Given the description of an element on the screen output the (x, y) to click on. 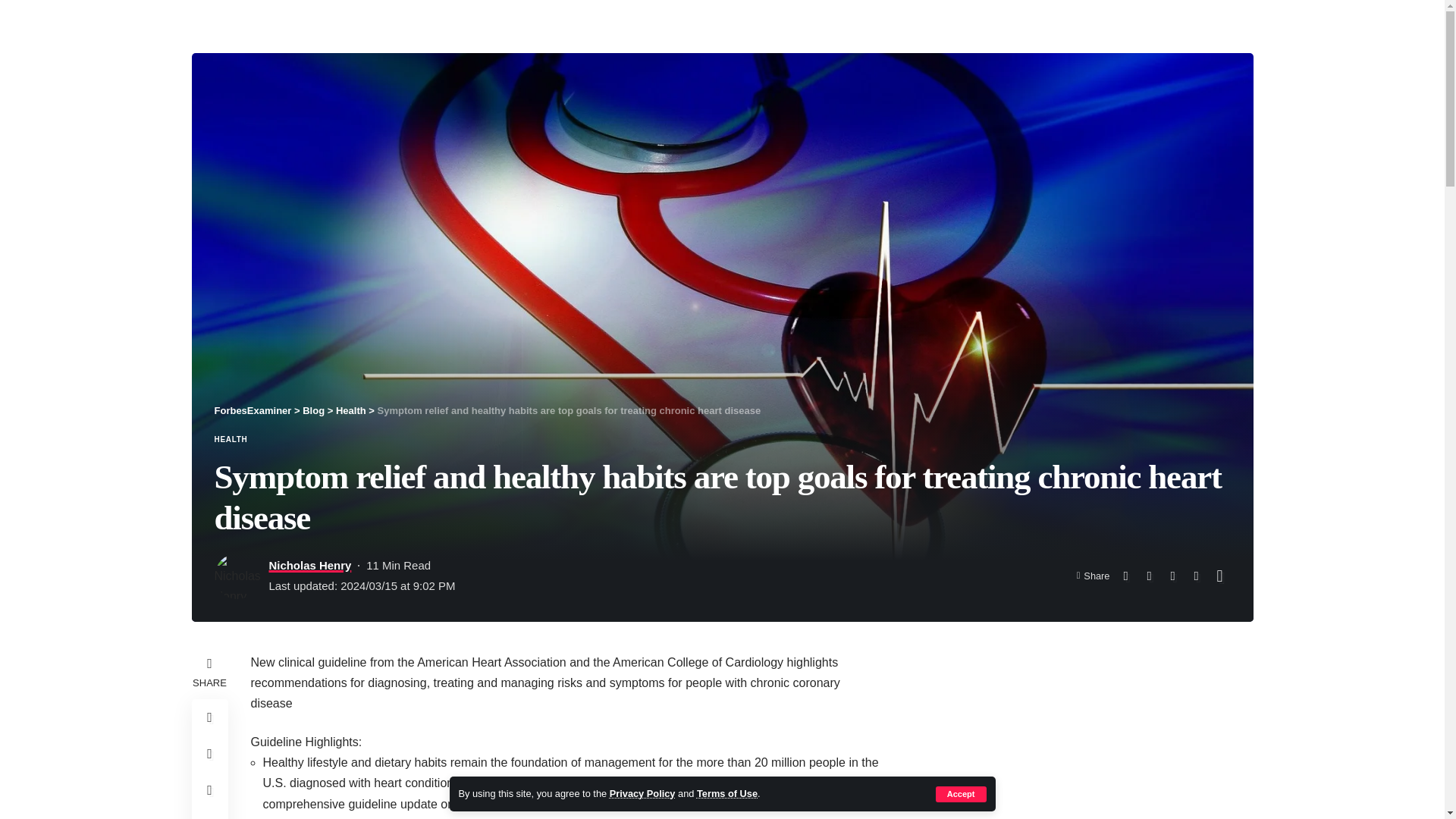
Go to ForbesExaminer. (252, 410)
Privacy Policy (642, 793)
ForbesExaminer (252, 410)
Health (351, 410)
Nicholas Henry (308, 565)
Go to Blog. (313, 410)
HEALTH (230, 439)
Blog (313, 410)
Go to the Health Category archives. (351, 410)
Terms of Use (727, 793)
